Given the description of an element on the screen output the (x, y) to click on. 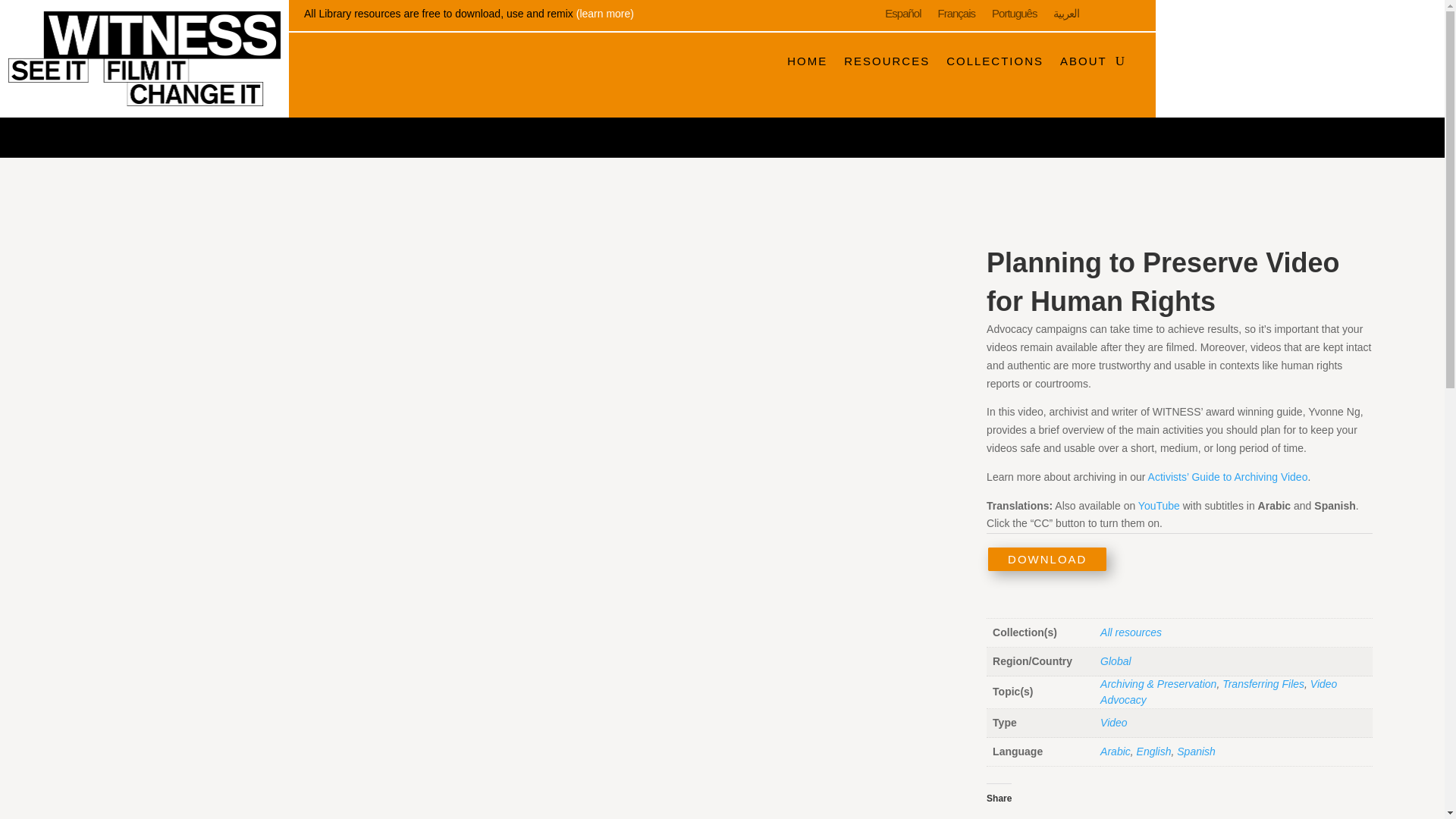
ABOUT (1082, 61)
YouTube (1158, 505)
HOME (807, 61)
COLLECTIONS (994, 61)
DOWNLOAD (1047, 558)
RESOURCES (887, 61)
